Given the description of an element on the screen output the (x, y) to click on. 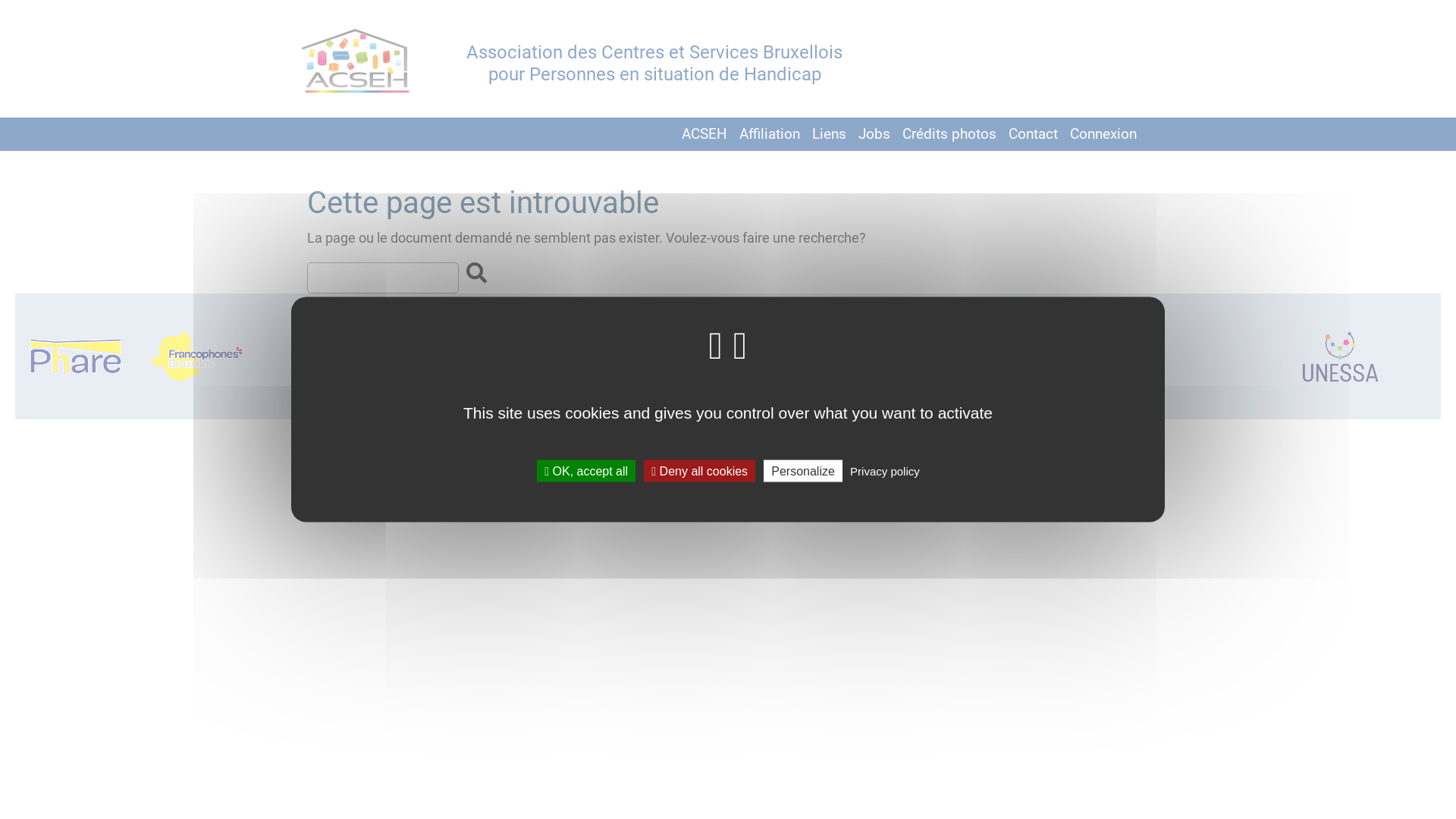
Personalize Element type: text (802, 470)
Rechercher sur le site Element type: text (476, 273)
Privacy policy Element type: text (884, 470)
Deny all cookies Element type: text (699, 470)
ACSEH Element type: text (704, 133)
Affiliation Element type: text (769, 133)
Contact Element type: text (1032, 133)
Liens Element type: text (829, 133)
Jobs Element type: text (874, 133)
OK, accept all Element type: text (585, 470)
Connexion Element type: text (1102, 133)
